Given the description of an element on the screen output the (x, y) to click on. 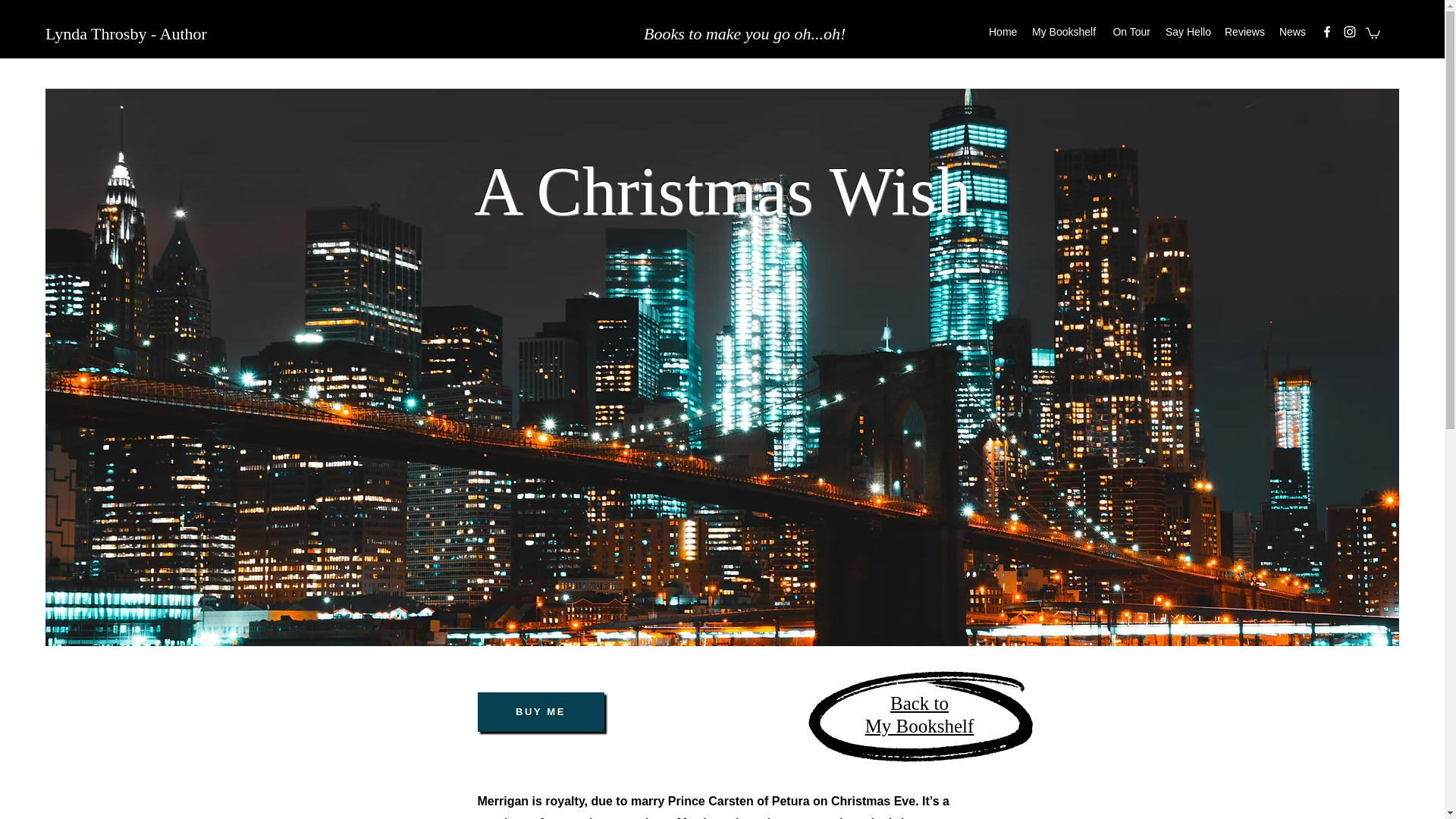
BUY ME (540, 712)
News (1292, 31)
My Bookshelf (1064, 31)
On Tour (1130, 31)
Say Hello (1187, 31)
Lynda Throsby - Author (125, 33)
Reviews (1244, 31)
Home (1003, 31)
Books to make you go oh...oh! (919, 714)
